Given the description of an element on the screen output the (x, y) to click on. 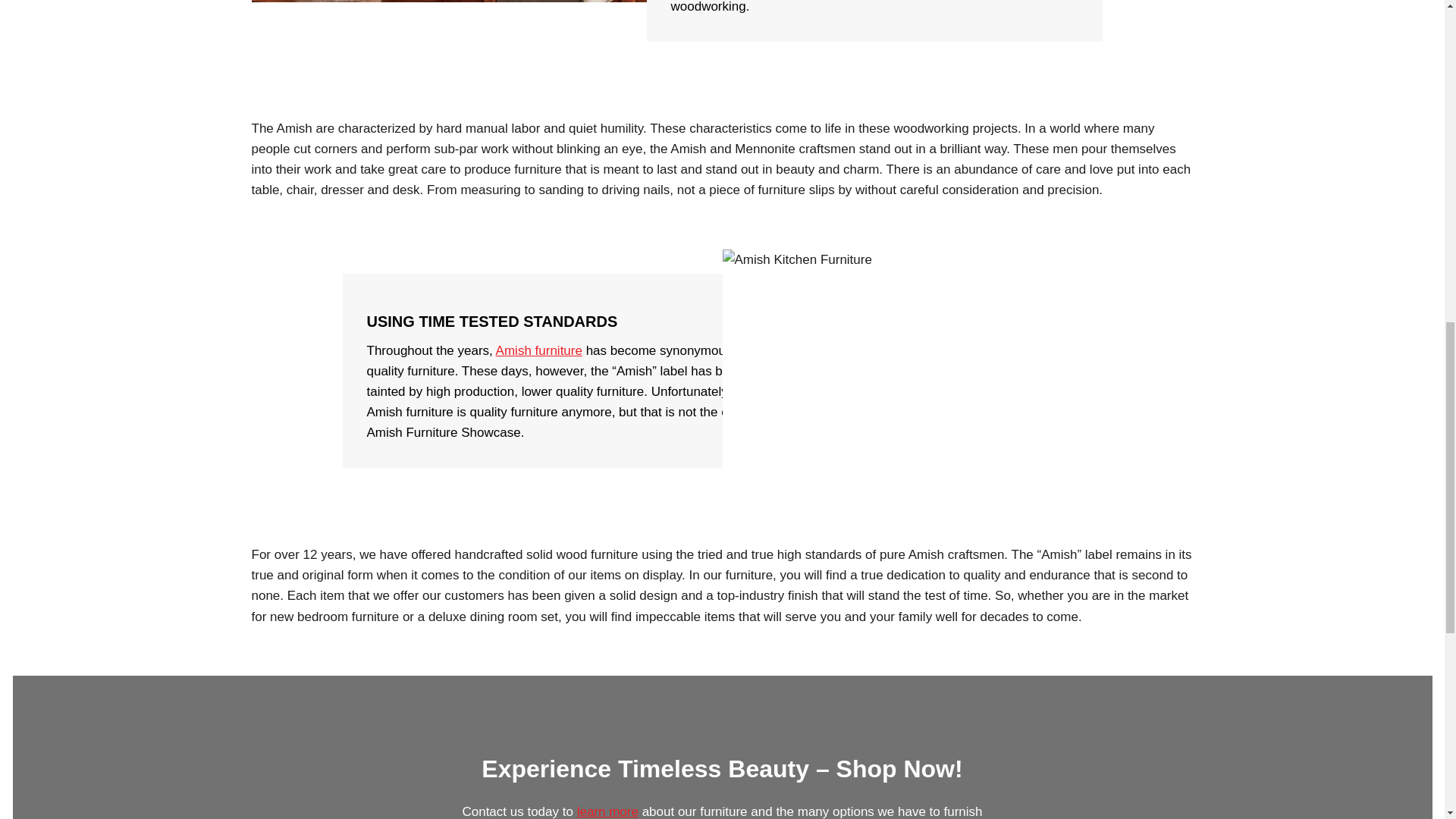
Amish Kitchen Furniture (957, 381)
Amish furniture (539, 350)
learn more (607, 811)
